Given the description of an element on the screen output the (x, y) to click on. 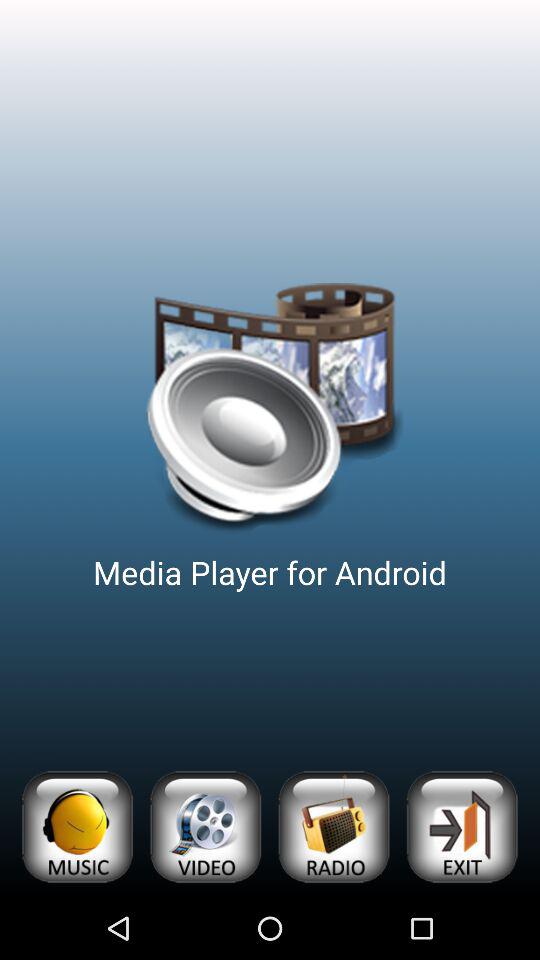
exit (461, 826)
